Given the description of an element on the screen output the (x, y) to click on. 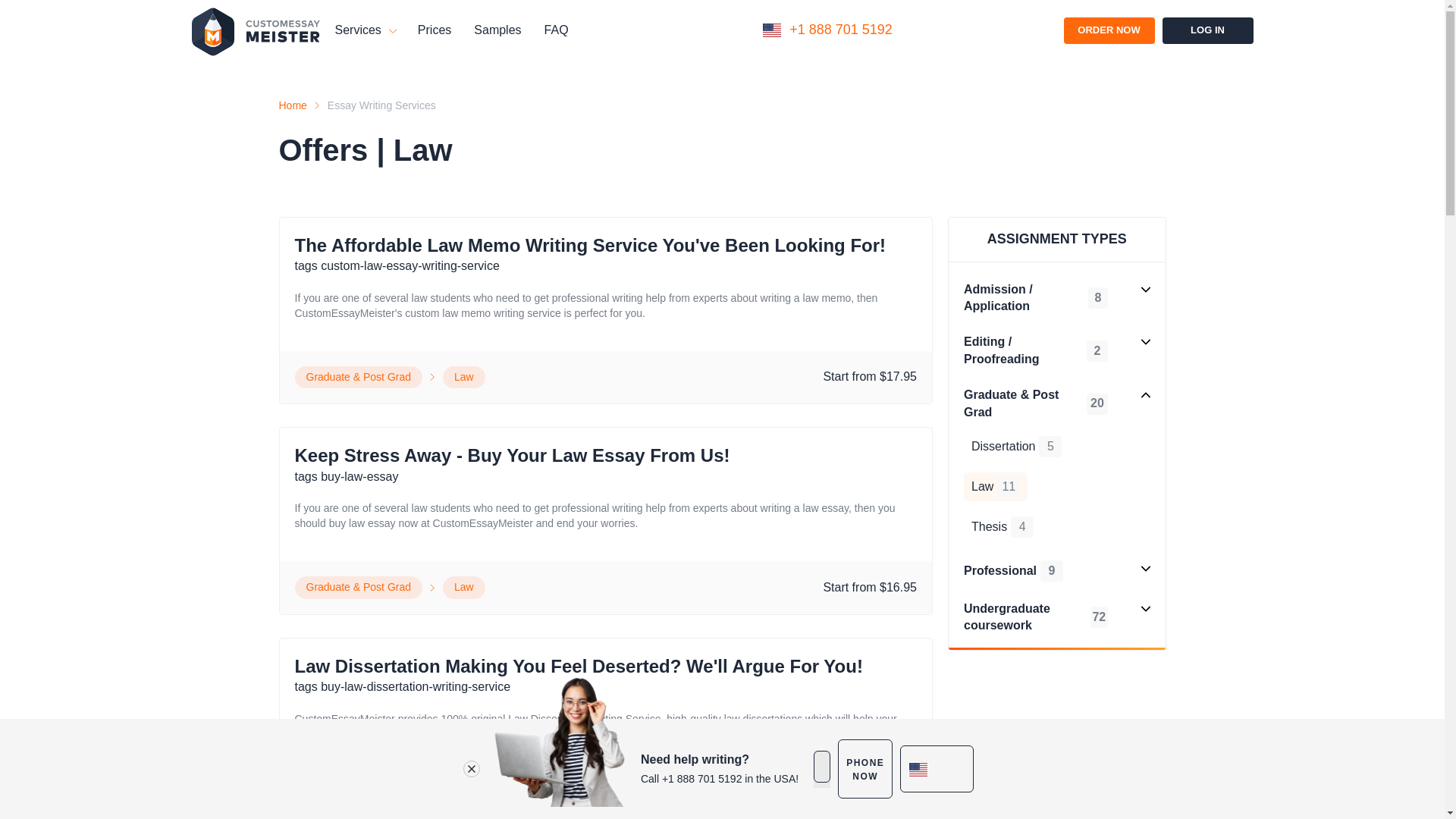
ORDER NOW (1108, 29)
Prices (434, 30)
LOG IN (1206, 29)
FAQ (556, 30)
Samples (497, 30)
Home (293, 105)
